Given the description of an element on the screen output the (x, y) to click on. 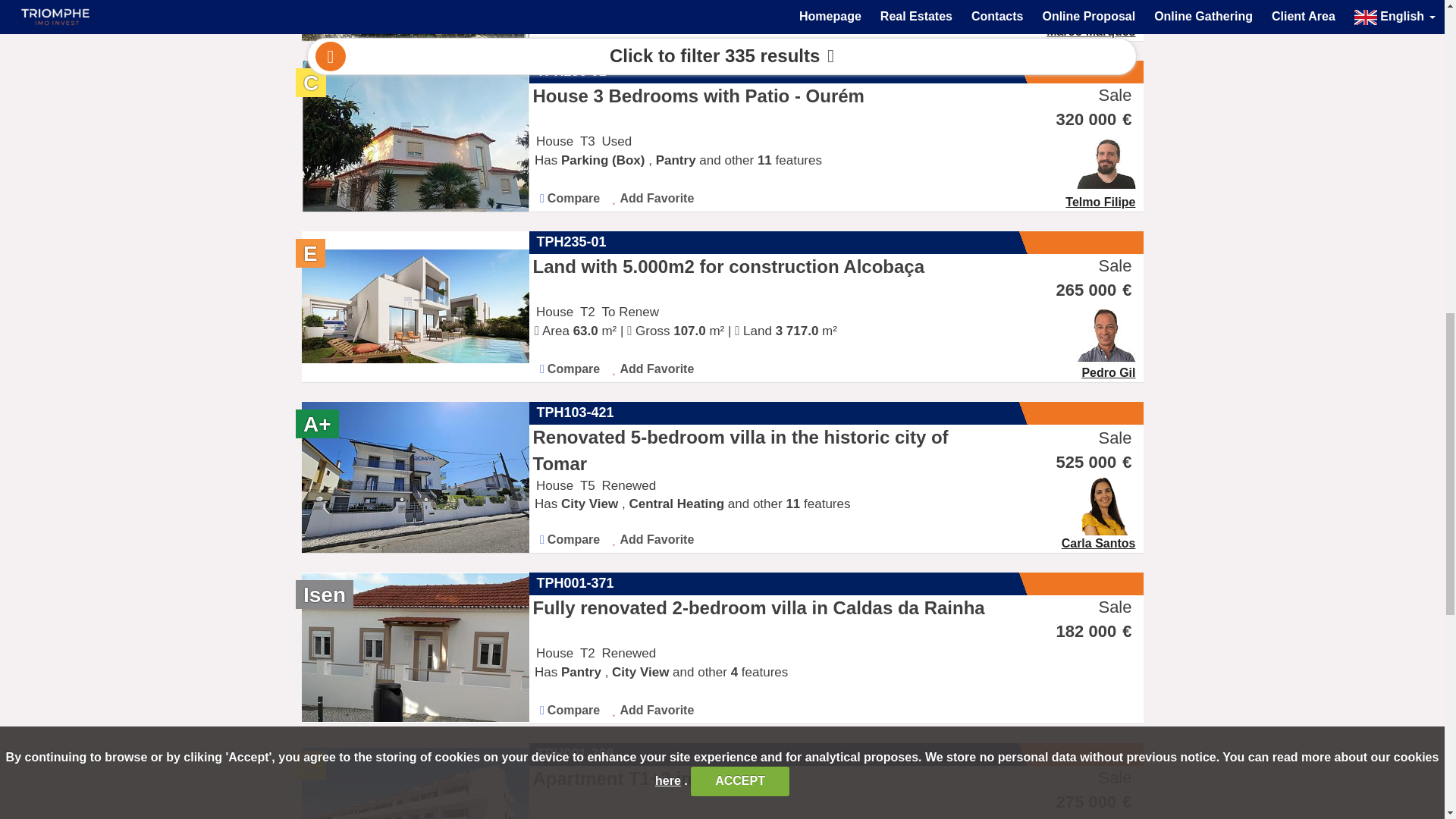
Telmo Filipe (1103, 182)
Marco Marques (1094, 18)
Pedro Gil (1109, 353)
Carla Santos (1101, 523)
